Given the description of an element on the screen output the (x, y) to click on. 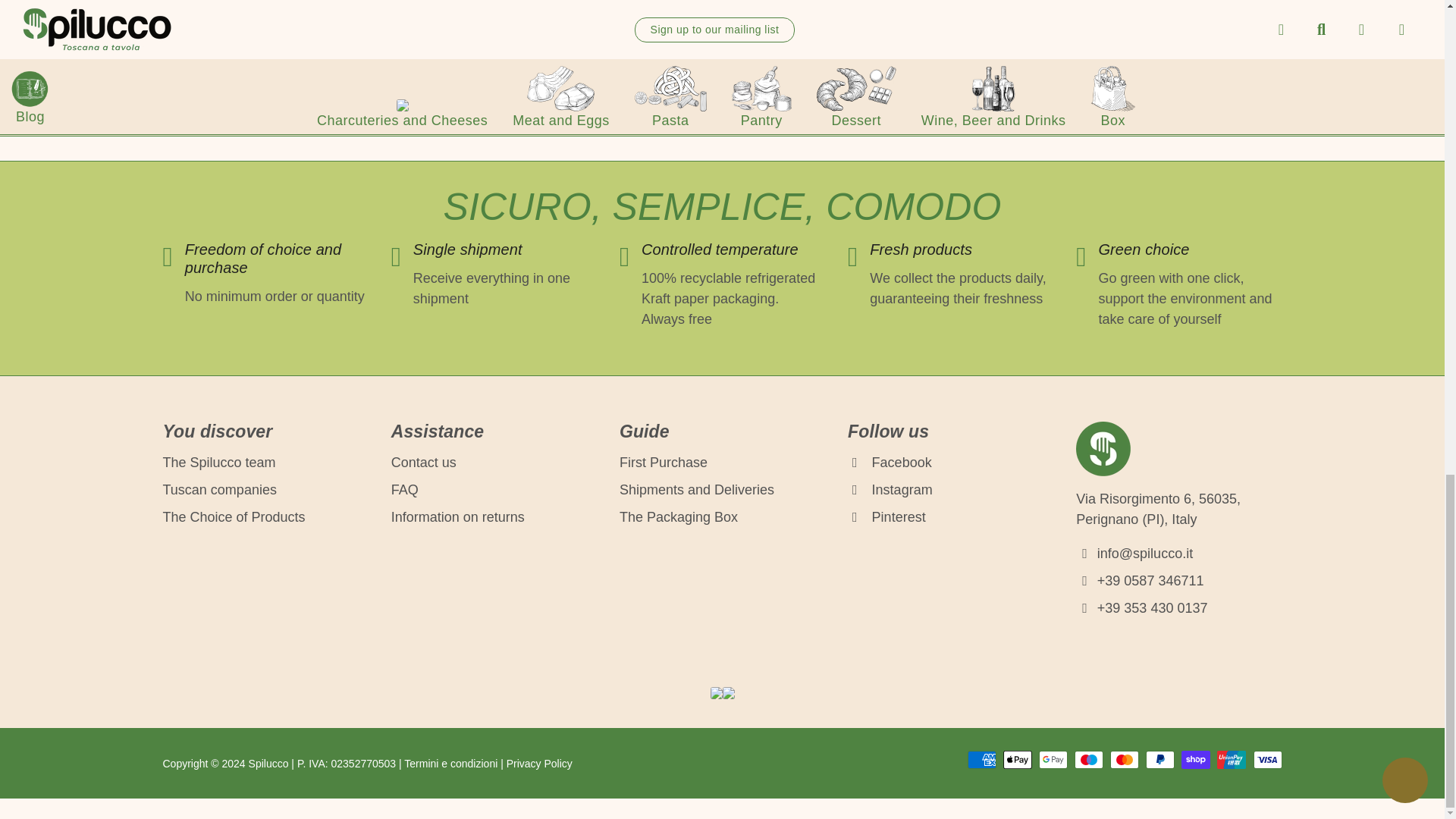
Mastercard (1123, 760)
Spilucco on Facebook (889, 462)
Spilucco on Instagram (890, 489)
American Express (981, 760)
Maestro (1088, 760)
PayPal (1159, 760)
Spilucco on Pinterest (886, 516)
Shop Pay (1194, 760)
Google Pay (1053, 760)
Apple Pay (1017, 760)
